Given the description of an element on the screen output the (x, y) to click on. 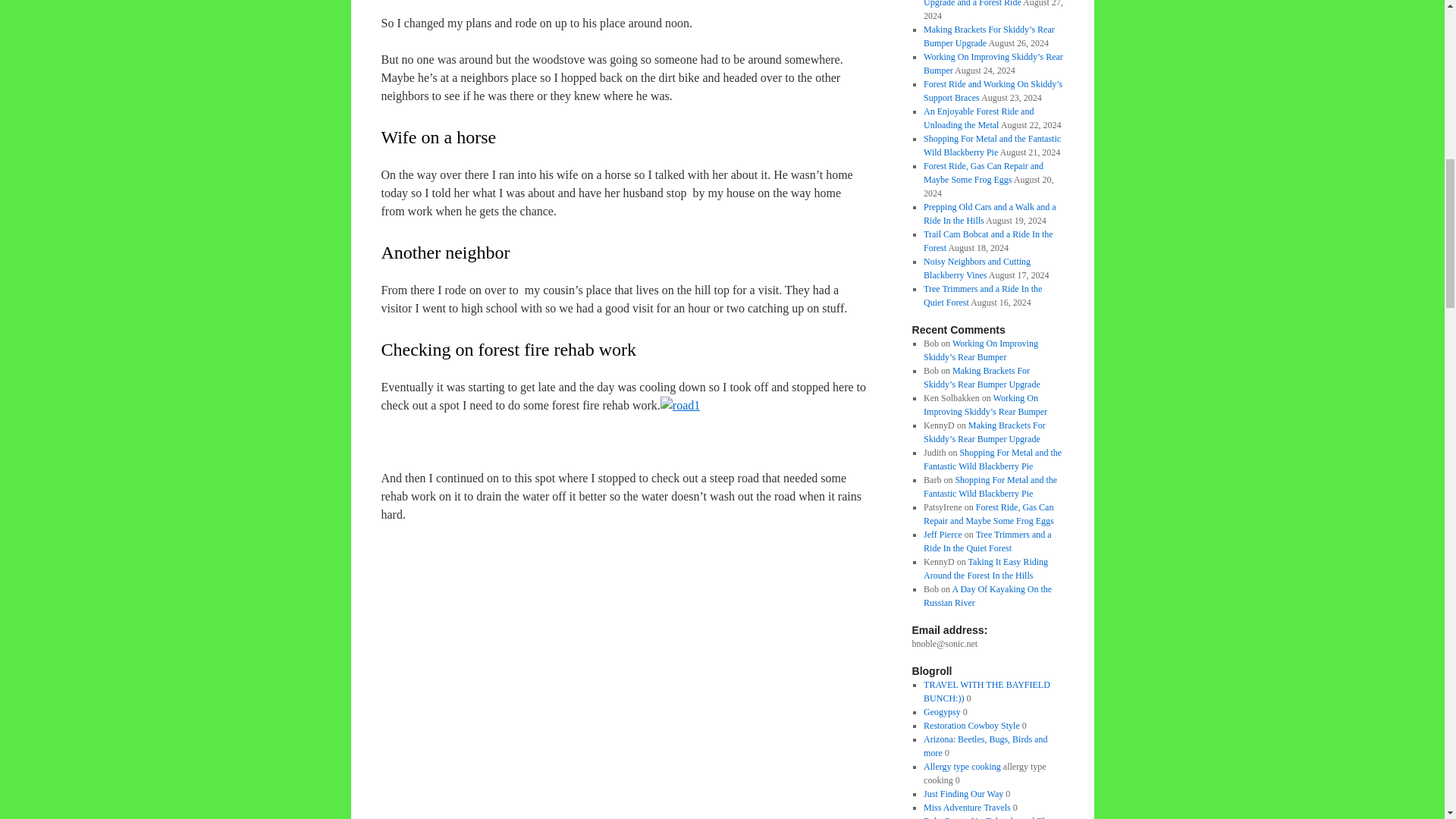
allergy type cooking (962, 766)
road1 (680, 405)
An Enjoyable Forest Ride and Unloading the Metal (978, 118)
